Given the description of an element on the screen output the (x, y) to click on. 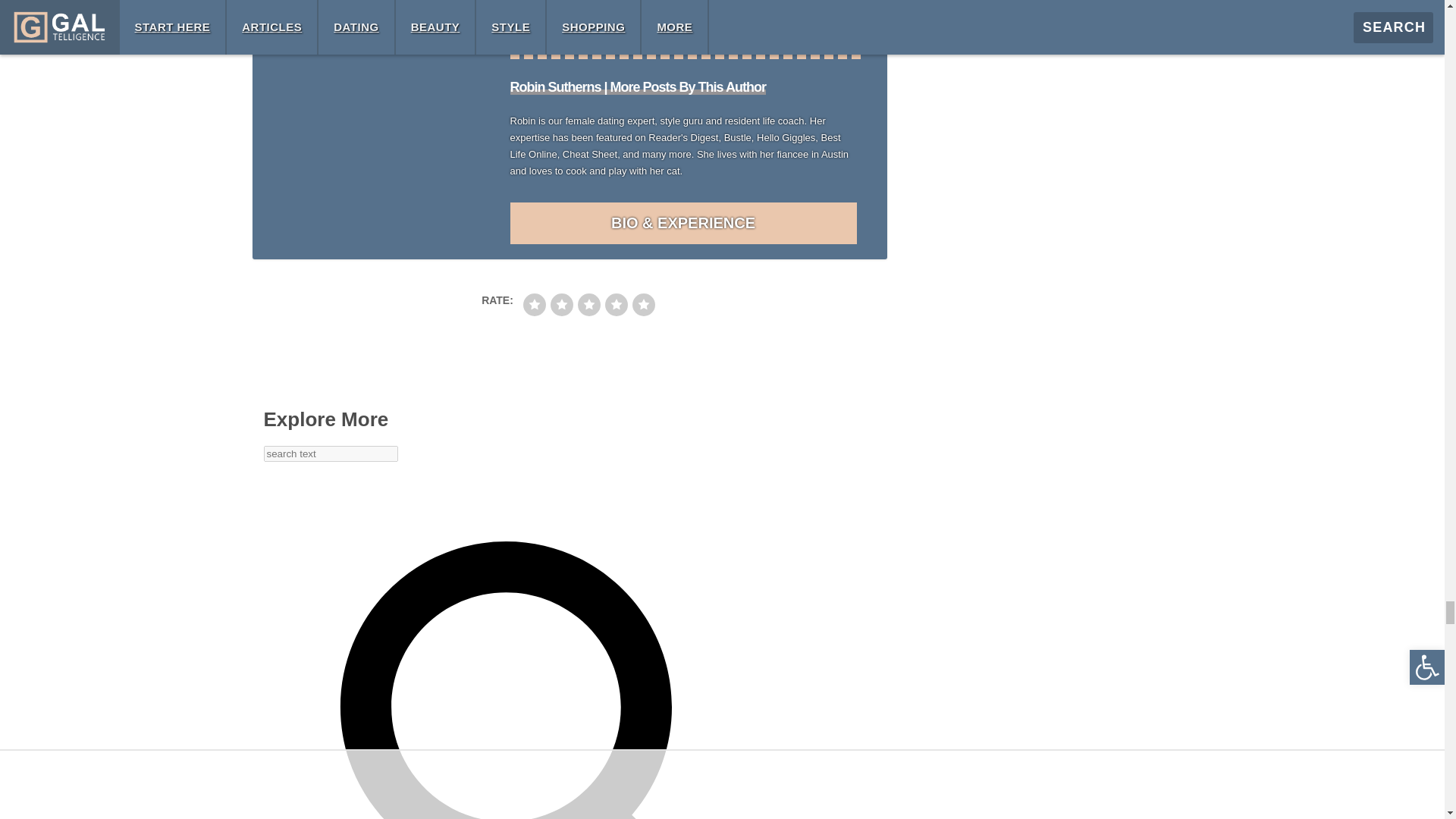
good (616, 304)
poor (561, 304)
gorgeous (643, 304)
bad (534, 304)
View all posts by Robin Sutherns (637, 87)
regular (588, 304)
